Given the description of an element on the screen output the (x, y) to click on. 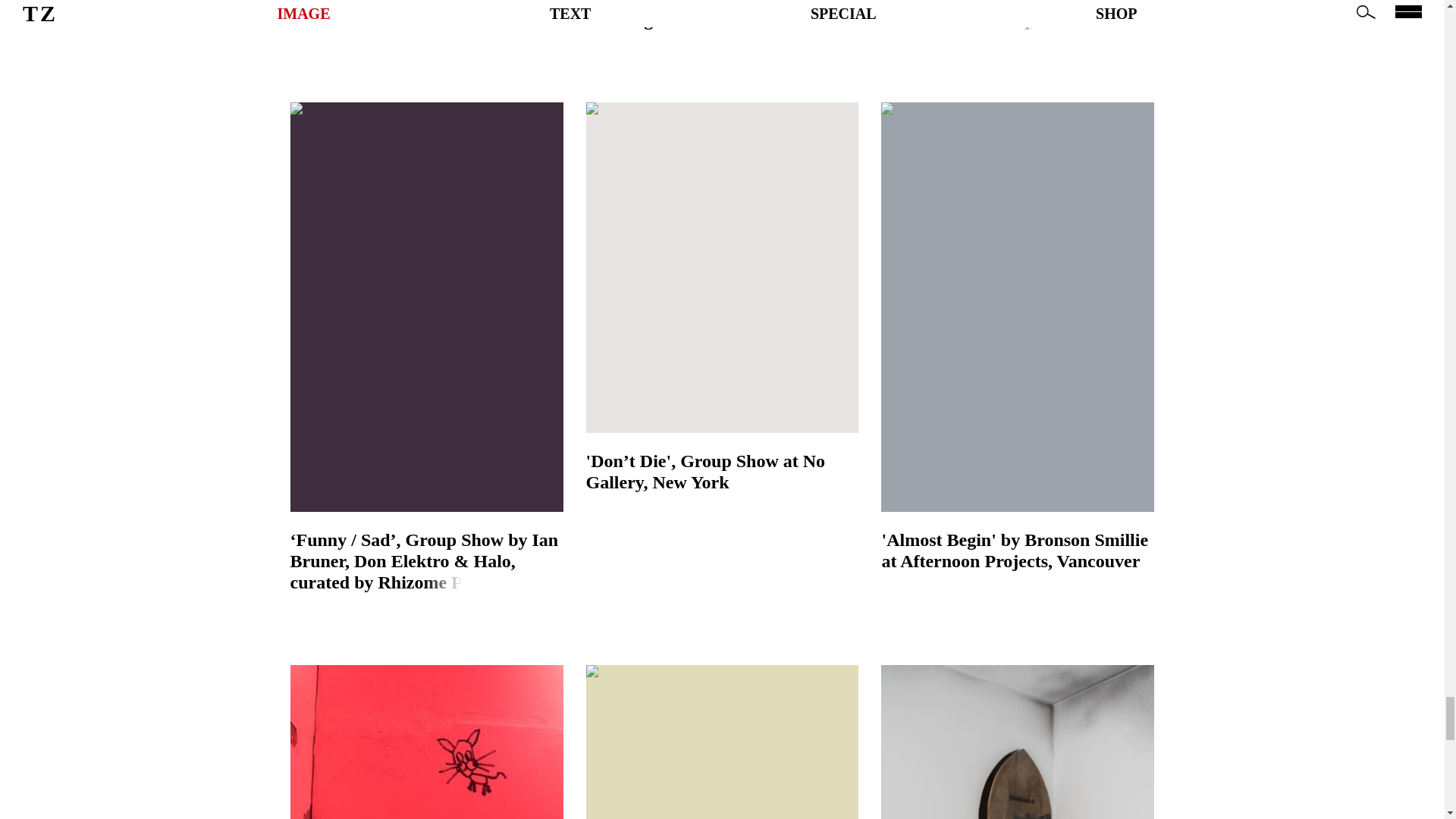
'HALF TRUTHS', Group Show at Hackney Road, E2 8ET, London (426, 4)
'Fear of the Dark' by Jack Evans at Soup, London (1017, 742)
'HALF TRUTHS', Group Show at Hackney Road, E2 8ET, London (426, 4)
